Given the description of an element on the screen output the (x, y) to click on. 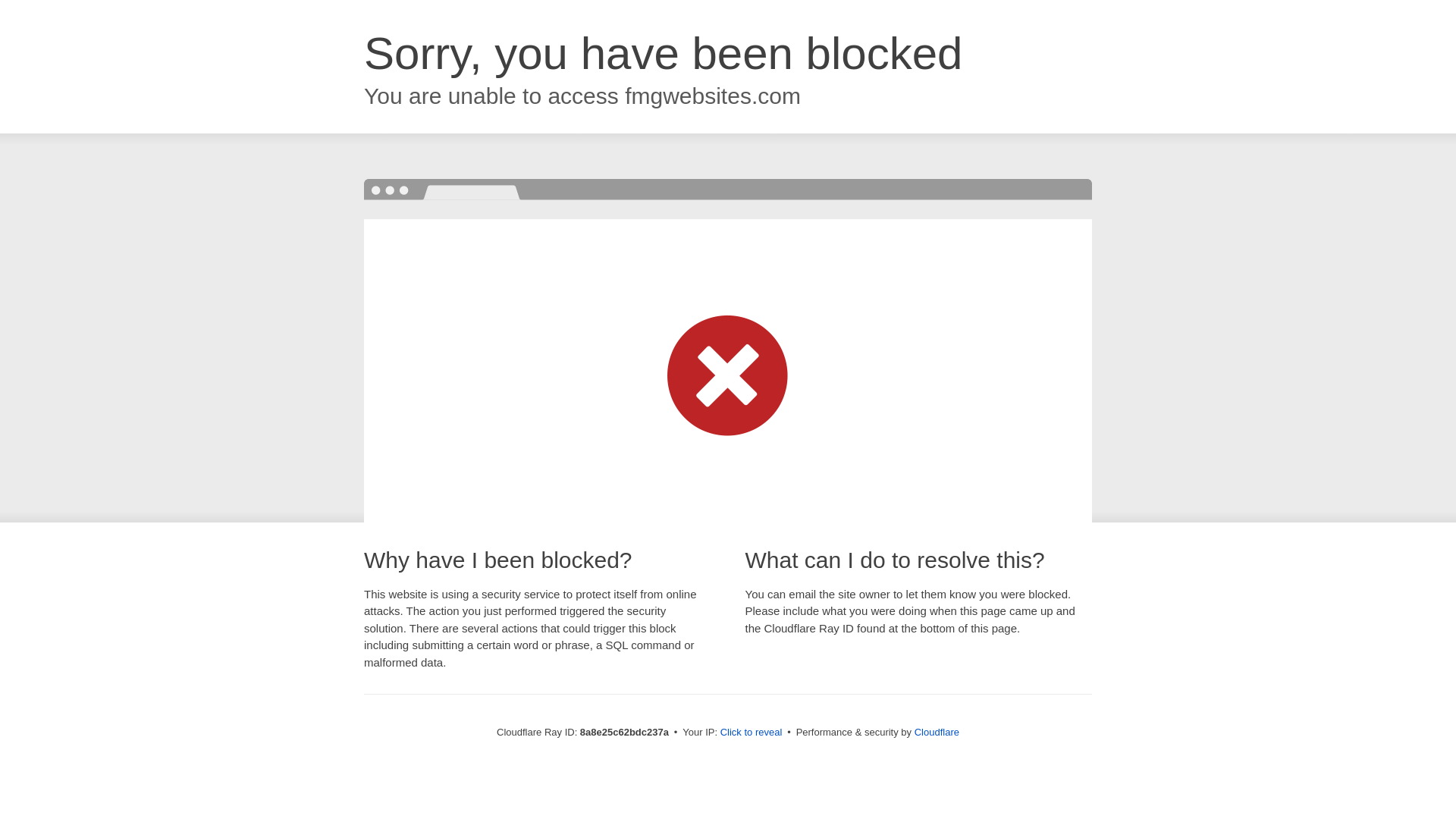
Click to reveal (751, 732)
Cloudflare (936, 731)
